Given the description of an element on the screen output the (x, y) to click on. 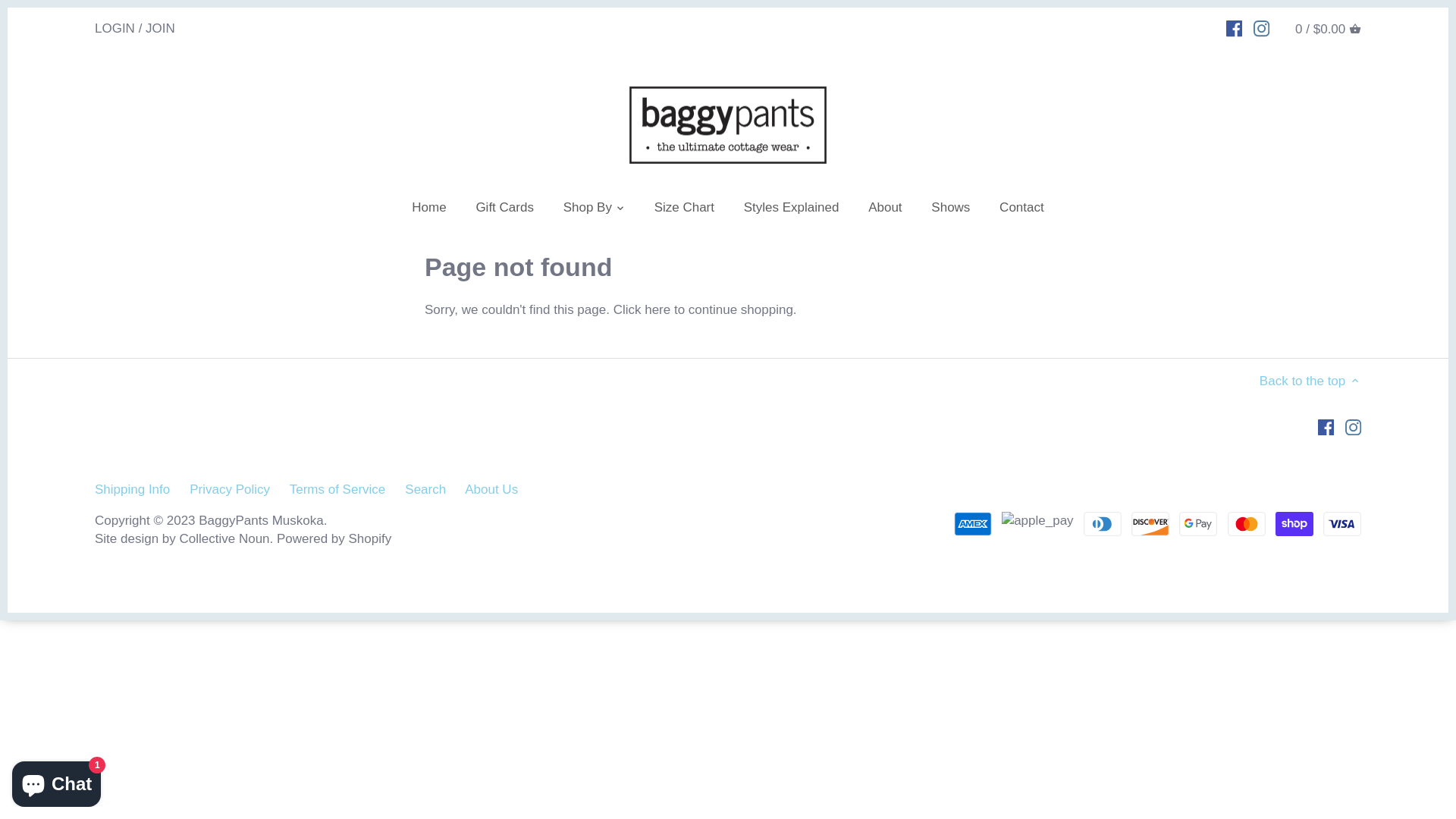
About Element type: text (884, 209)
Gift Cards Element type: text (504, 209)
FACEBOOK Element type: text (1234, 27)
Shop By Element type: text (587, 209)
Click here Element type: text (642, 309)
Size Chart Element type: text (684, 209)
LOGIN Element type: text (114, 27)
Search Element type: text (424, 489)
Back to the top Element type: text (1310, 380)
Styles Explained Element type: text (791, 209)
INSTAGRAM Element type: text (1261, 27)
Contact Element type: text (1021, 209)
Shows Element type: text (950, 209)
JOIN Element type: text (160, 27)
BaggyPants Muskoka Element type: text (260, 520)
Home Element type: text (428, 209)
Collective Noun Element type: text (224, 538)
Terms of Service Element type: text (337, 489)
Privacy Policy Element type: text (229, 489)
About Us Element type: text (490, 489)
Shipping Info Element type: text (131, 489)
0 / $0.00 CART Element type: text (1328, 28)
Facebook Element type: text (1325, 426)
Shopify online store chat Element type: hover (56, 780)
Instagram Element type: text (1353, 426)
Powered by Shopify Element type: text (333, 538)
